Given the description of an element on the screen output the (x, y) to click on. 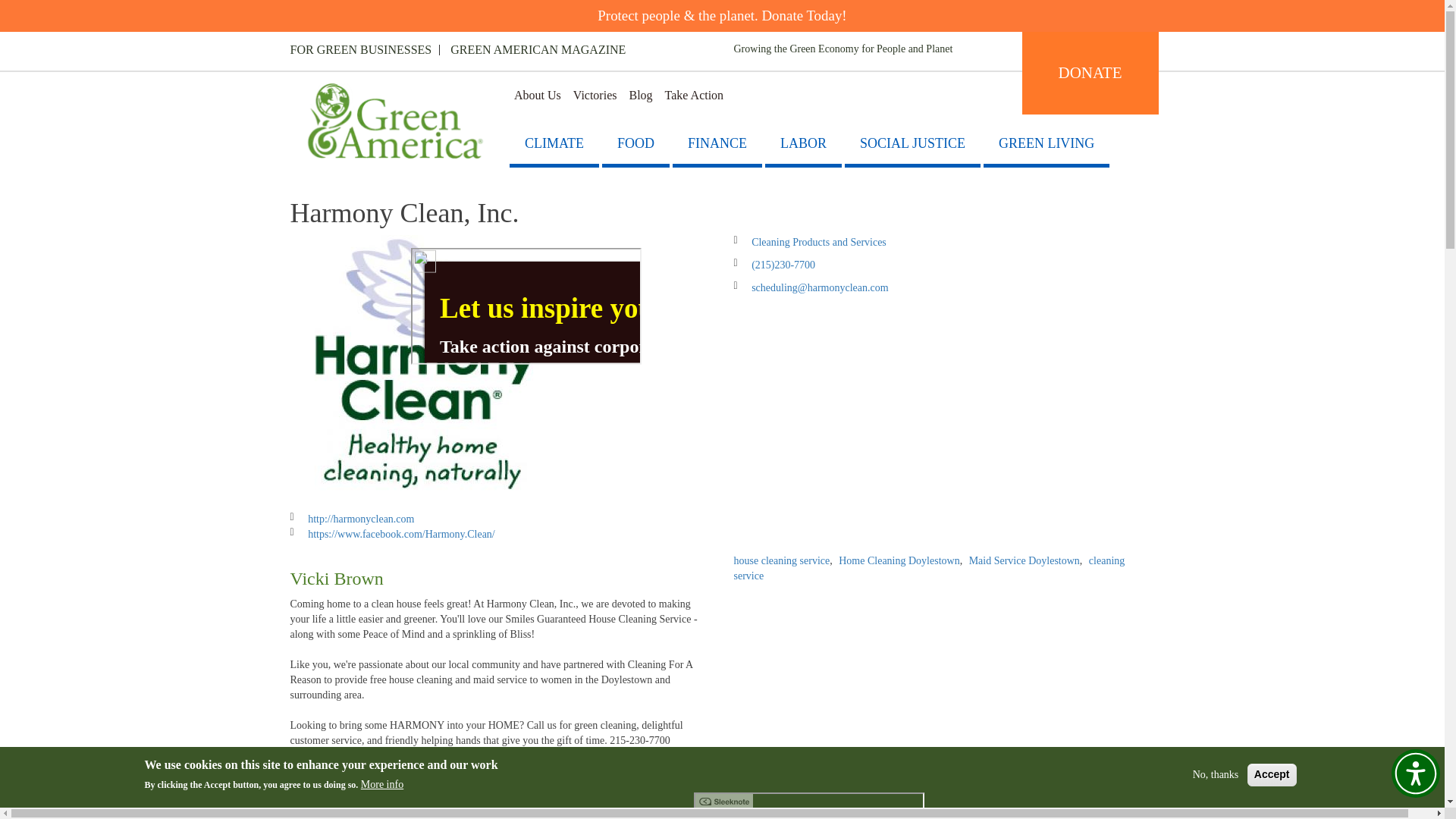
GREEN LIVING (1046, 144)
GREEN AMERICAN MAGAZINE (537, 50)
house cleaning service (781, 560)
cleaning service (929, 568)
FOOD (635, 144)
Women-owned (321, 763)
CLIMATE (553, 144)
Home Cleaning Doylestown (898, 560)
Cleaning Products and Services (818, 242)
Maid Service Doylestown (1024, 560)
LABOR (803, 144)
Blog (640, 95)
SOCIAL JUSTICE (911, 144)
Home (394, 124)
Take Action (694, 95)
